Given the description of an element on the screen output the (x, y) to click on. 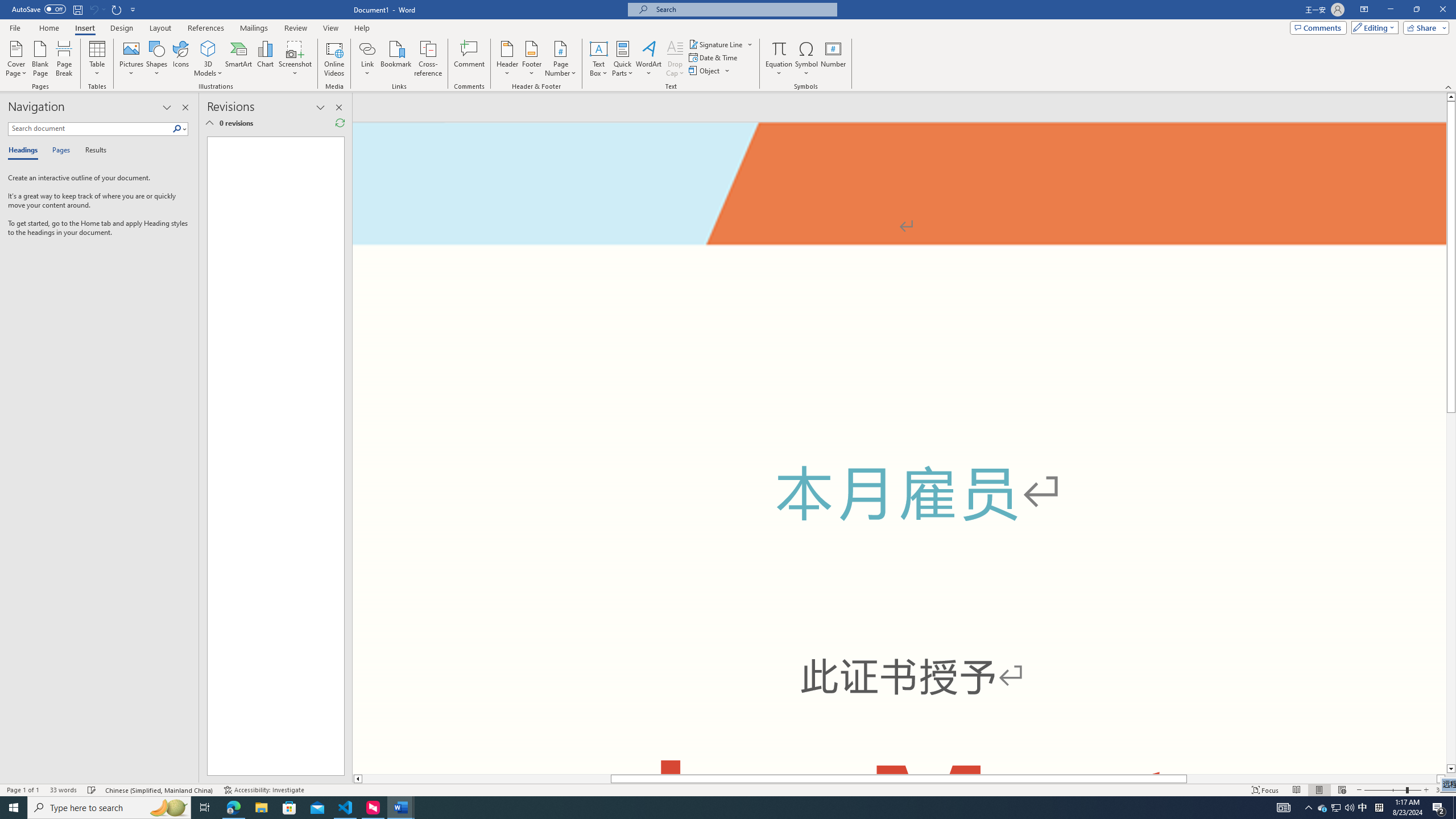
3D Models (208, 58)
Screenshot (295, 58)
Repeat Doc Close (117, 9)
Accessibility Checker Accessibility: Investigate (263, 790)
Header (507, 58)
Page Number Page 1 of 1 (22, 790)
Zoom (1392, 790)
Cross-reference... (428, 58)
